Given the description of an element on the screen output the (x, y) to click on. 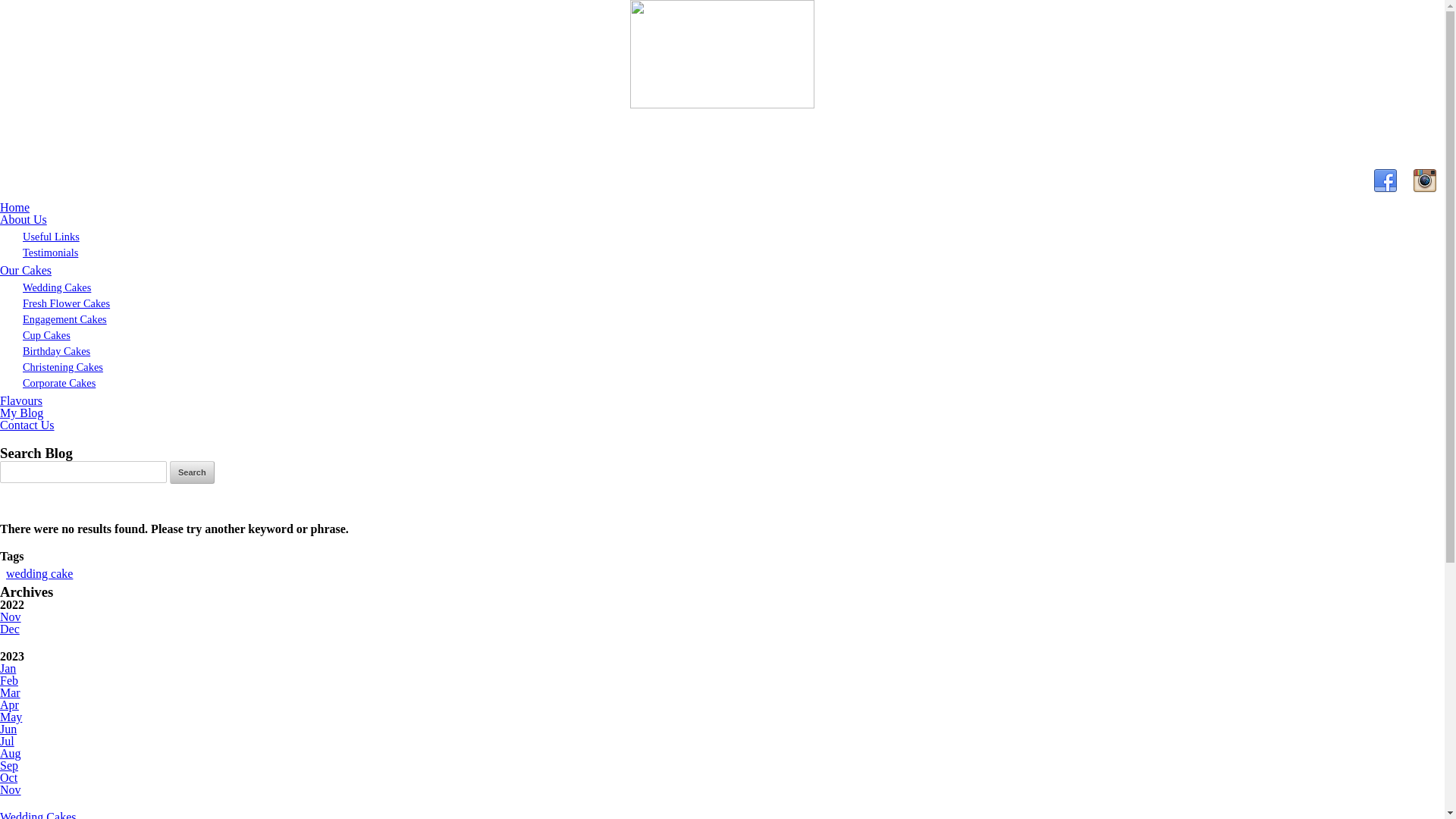
Feb Element type: text (9, 680)
Search Element type: text (191, 472)
Christening Cakes Element type: text (62, 366)
Apr Element type: text (9, 704)
Useful Links Element type: text (50, 236)
Cup Cakes Element type: text (46, 335)
Home Element type: text (14, 206)
Jul Element type: text (7, 740)
May Element type: text (10, 716)
Oct Element type: text (8, 777)
Jan Element type: text (7, 668)
Fresh Flower Cakes Element type: text (65, 303)
Sep Element type: text (9, 765)
wedding cake Element type: text (39, 573)
visit us on facebook Element type: hover (1385, 187)
Nov Element type: text (10, 789)
Dec Element type: text (9, 628)
Corporate Cakes Element type: text (58, 382)
follow us on instagram Element type: hover (1424, 187)
Our Cakes Element type: text (25, 269)
My Blog Element type: text (21, 412)
Flavours Element type: text (21, 400)
Nov Element type: text (10, 616)
About Us Element type: text (23, 219)
Wedding Cakes Element type: text (56, 287)
Engagement Cakes Element type: text (64, 319)
Mar Element type: text (10, 692)
Birthday Cakes Element type: text (56, 351)
Aug Element type: text (10, 752)
Contact Us Element type: text (27, 424)
Testimonials Element type: text (50, 252)
Jun Element type: text (8, 728)
